Given the description of an element on the screen output the (x, y) to click on. 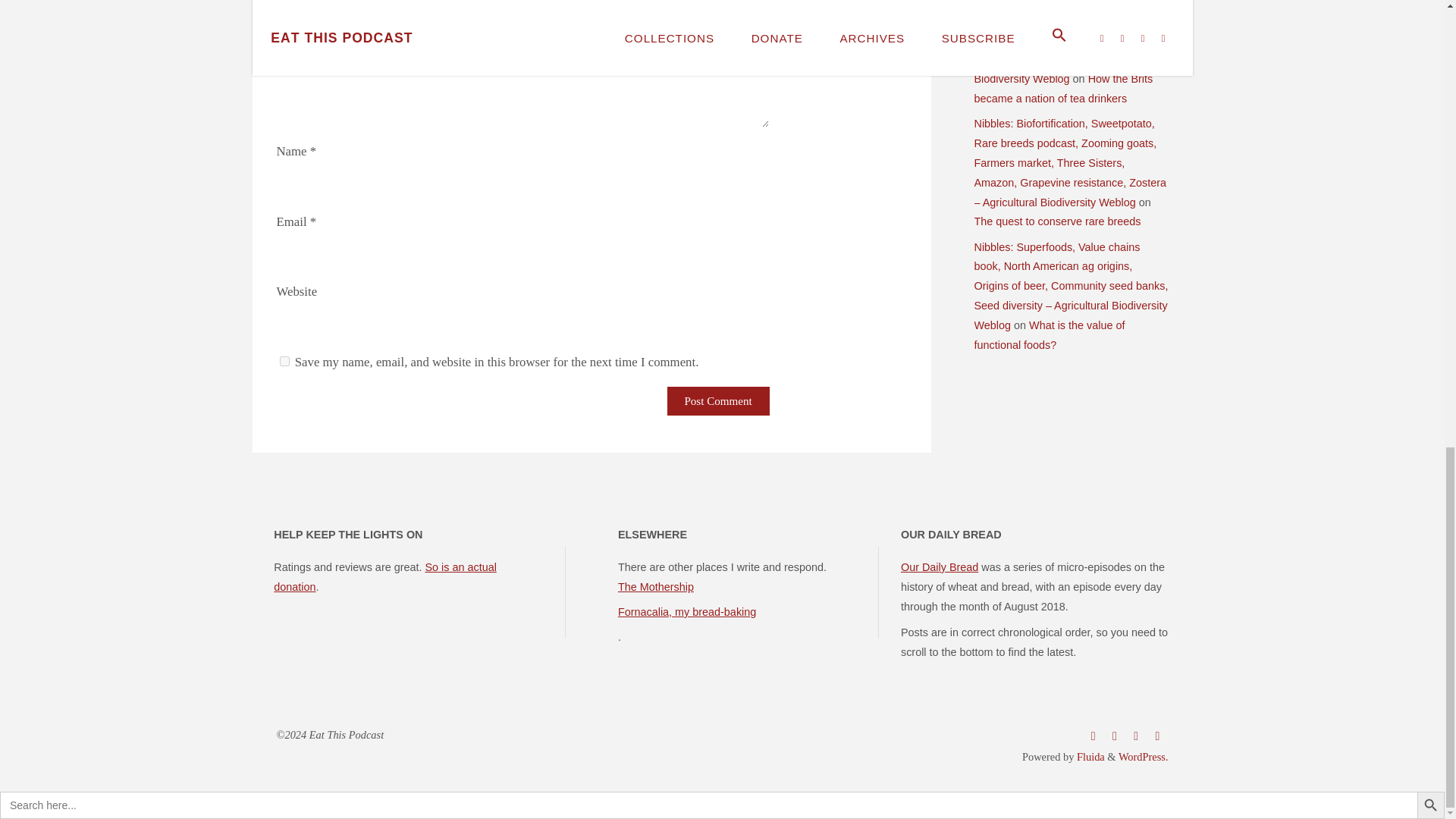
yes (283, 361)
Post Comment (718, 400)
Post Comment (718, 400)
